Given the description of an element on the screen output the (x, y) to click on. 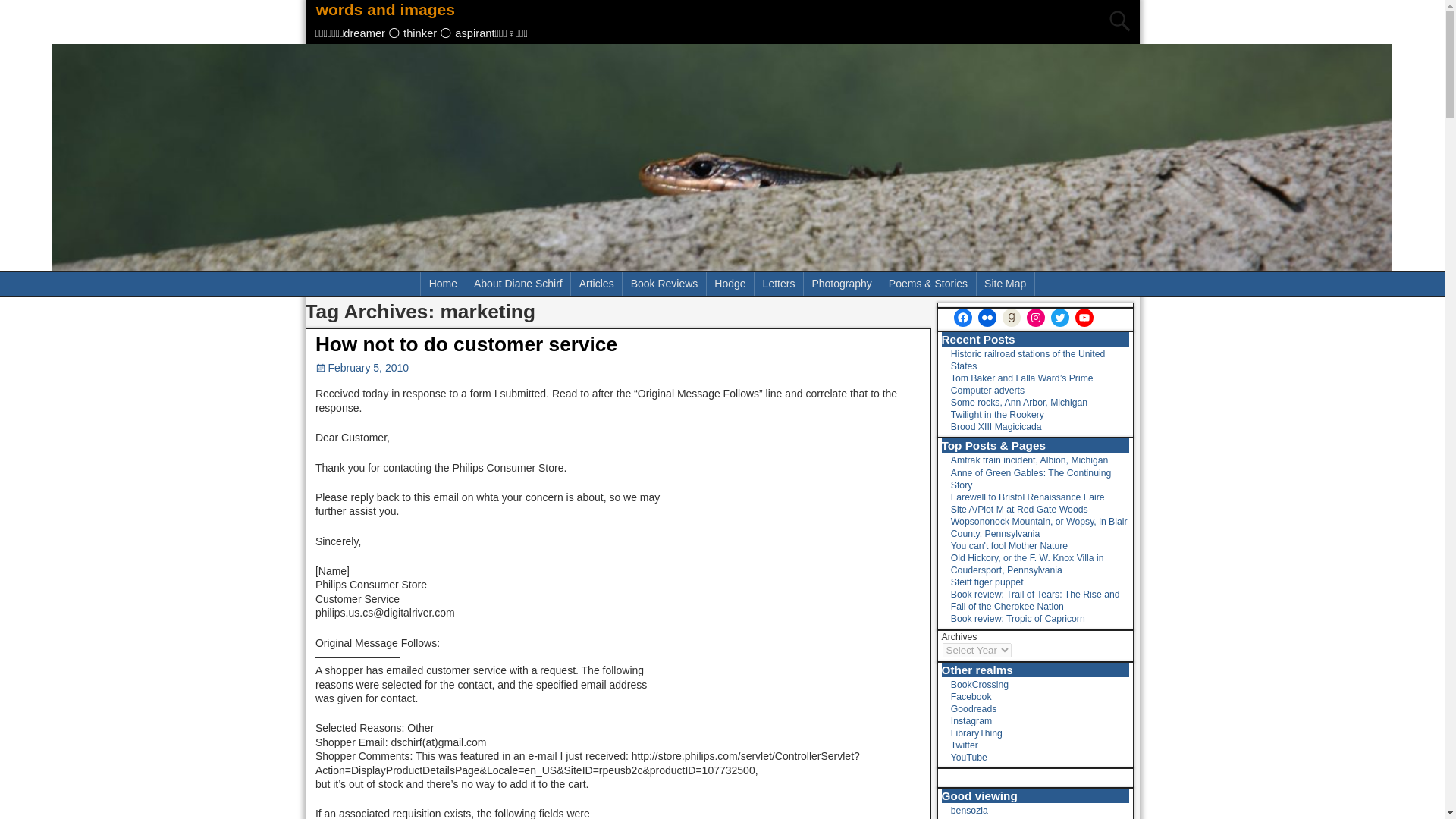
Letters (778, 283)
Site Map (1005, 283)
06:41 (362, 367)
February 5, 2010 (362, 367)
Home (442, 283)
Hodge (730, 283)
Home (442, 283)
words and images (386, 9)
Articles (596, 283)
words and images (386, 9)
